Given the description of an element on the screen output the (x, y) to click on. 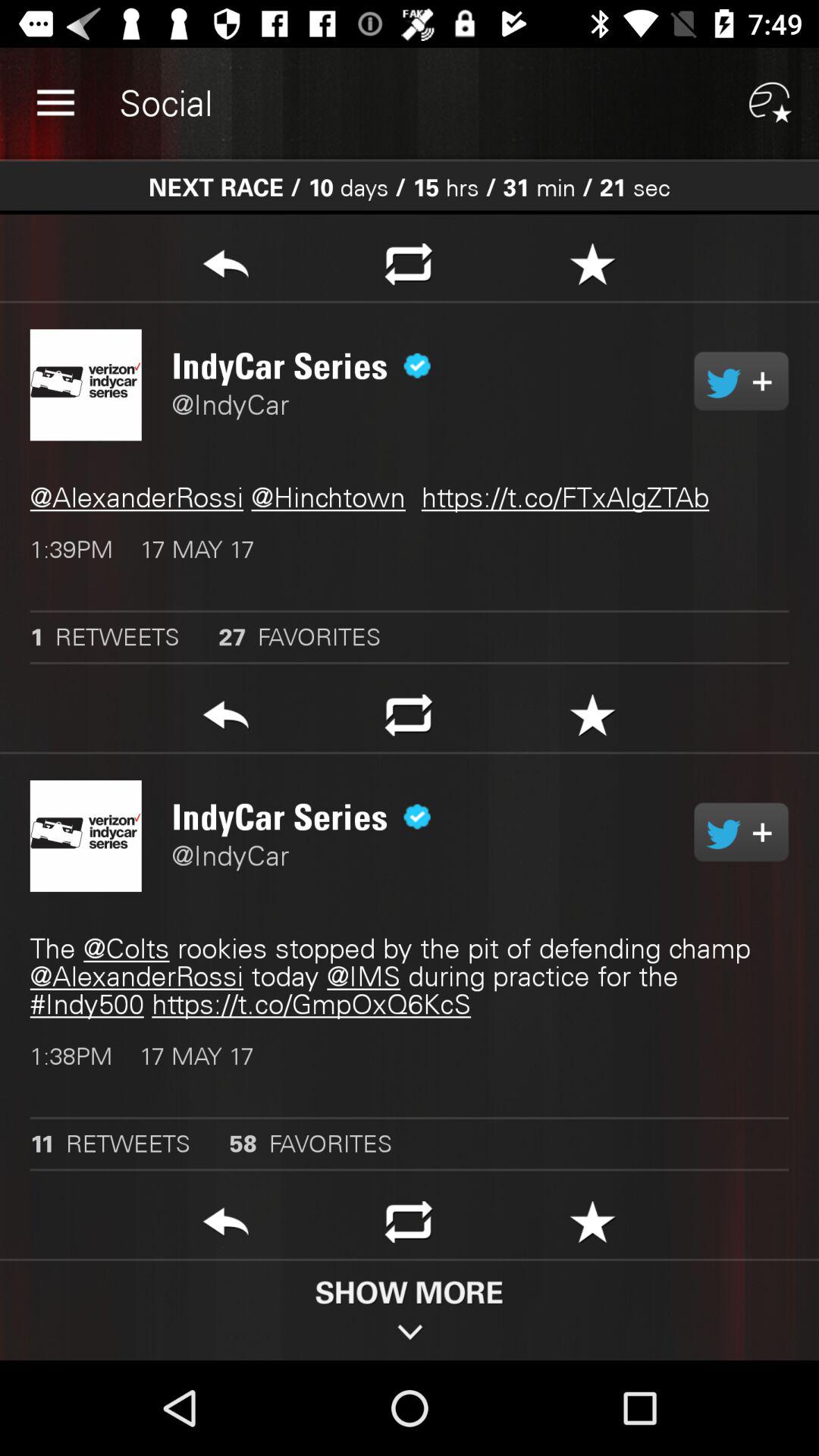
select the text above 138pm 17 may 17 (409, 976)
symbol beside second arrow in the page (408, 719)
select the forward option below 27 favorites (225, 719)
click on the first  star symbol which is above indycar series (592, 719)
select the text which is below indycar series (409, 497)
